Given the description of an element on the screen output the (x, y) to click on. 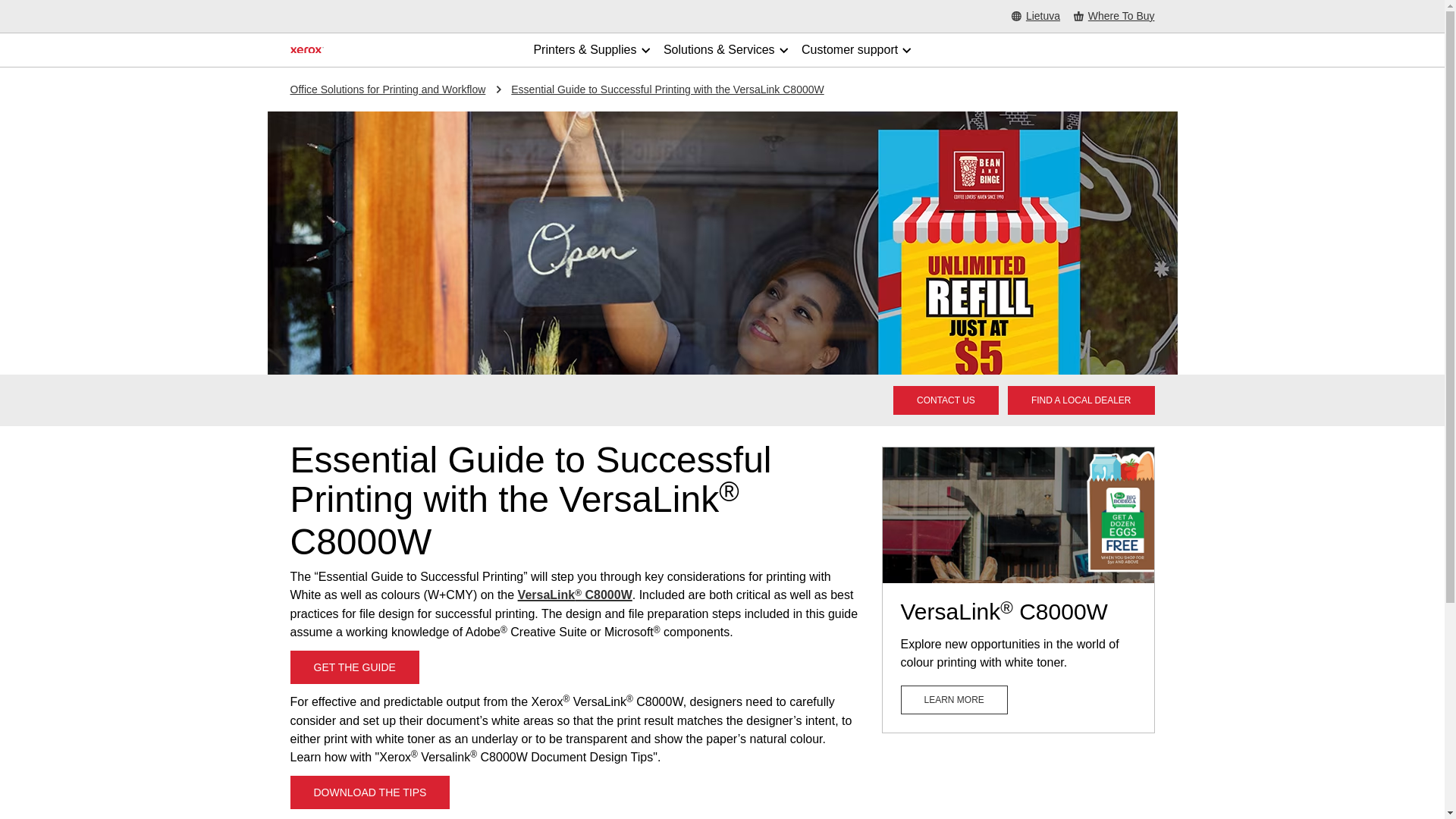
Lietuva (1035, 16)
Where To Buy (1114, 16)
